Given the description of an element on the screen output the (x, y) to click on. 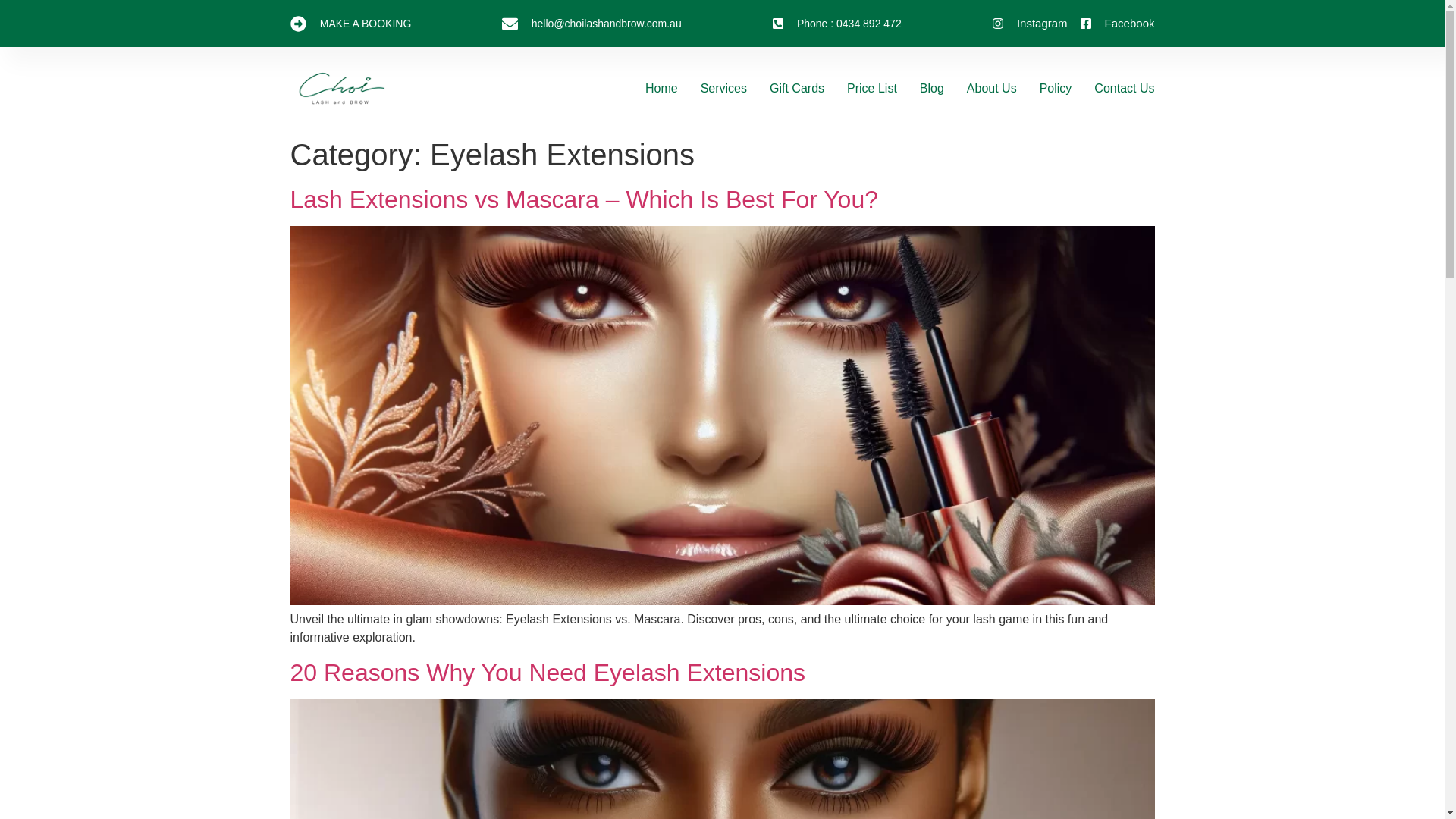
Facebook (1117, 23)
Policy (1055, 88)
Contact Us (1124, 88)
Home (661, 88)
Price List (871, 88)
Services (723, 88)
Instagram (1029, 23)
MAKE A BOOKING (349, 23)
Blog (931, 88)
About Us (991, 88)
